Given the description of an element on the screen output the (x, y) to click on. 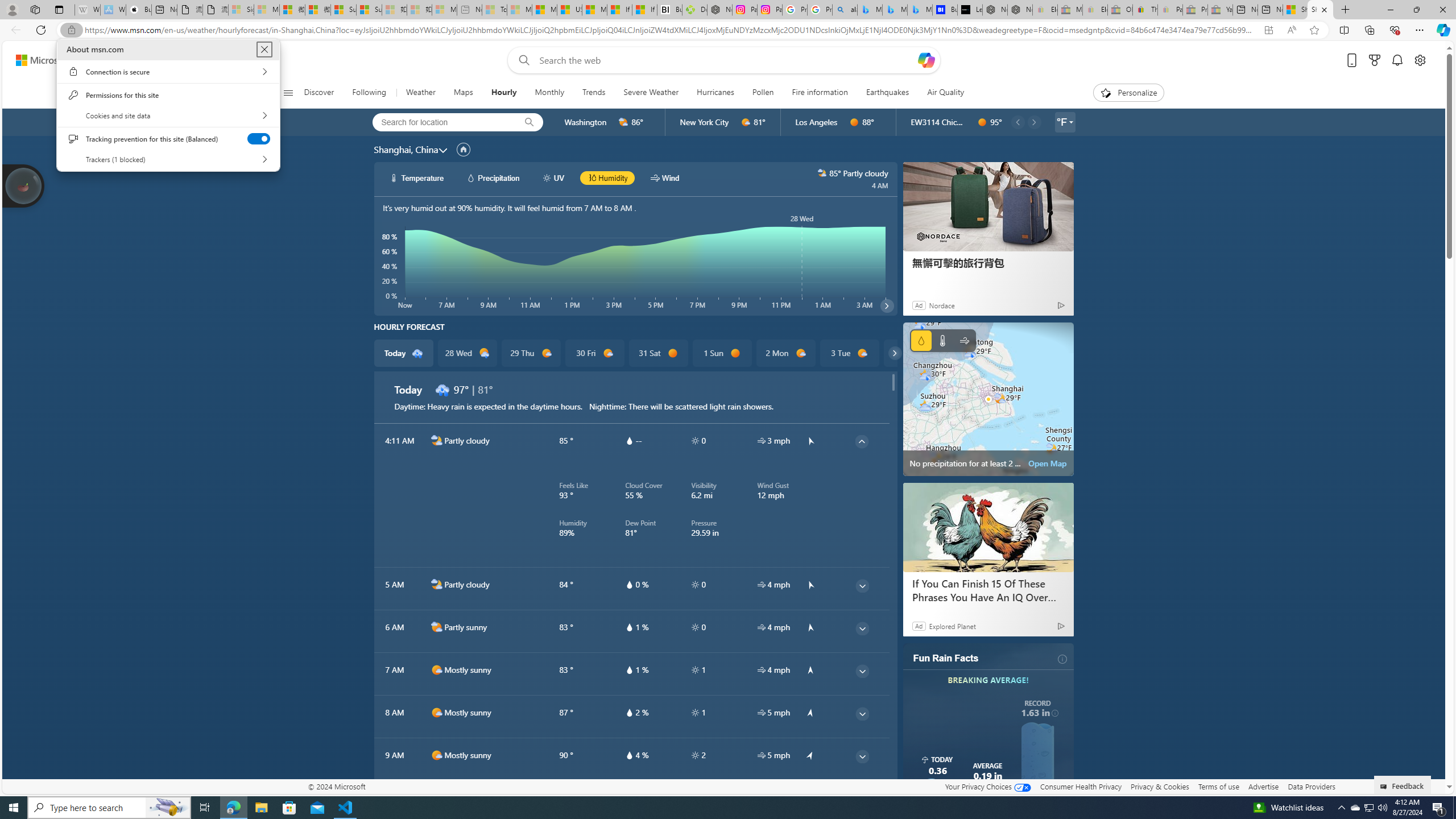
App available. Install Microsoft Start Weather (1268, 29)
locationBar/search (529, 121)
Severe Weather (650, 92)
Notification Chevron (1341, 807)
Cookies and site data (167, 114)
Threats and offensive language policy | eBay (1144, 9)
Microsoft Bing Travel - Shangri-La Hotel Bangkok (919, 9)
hourlyChart/uvWhite (1368, 807)
